Given the description of an element on the screen output the (x, y) to click on. 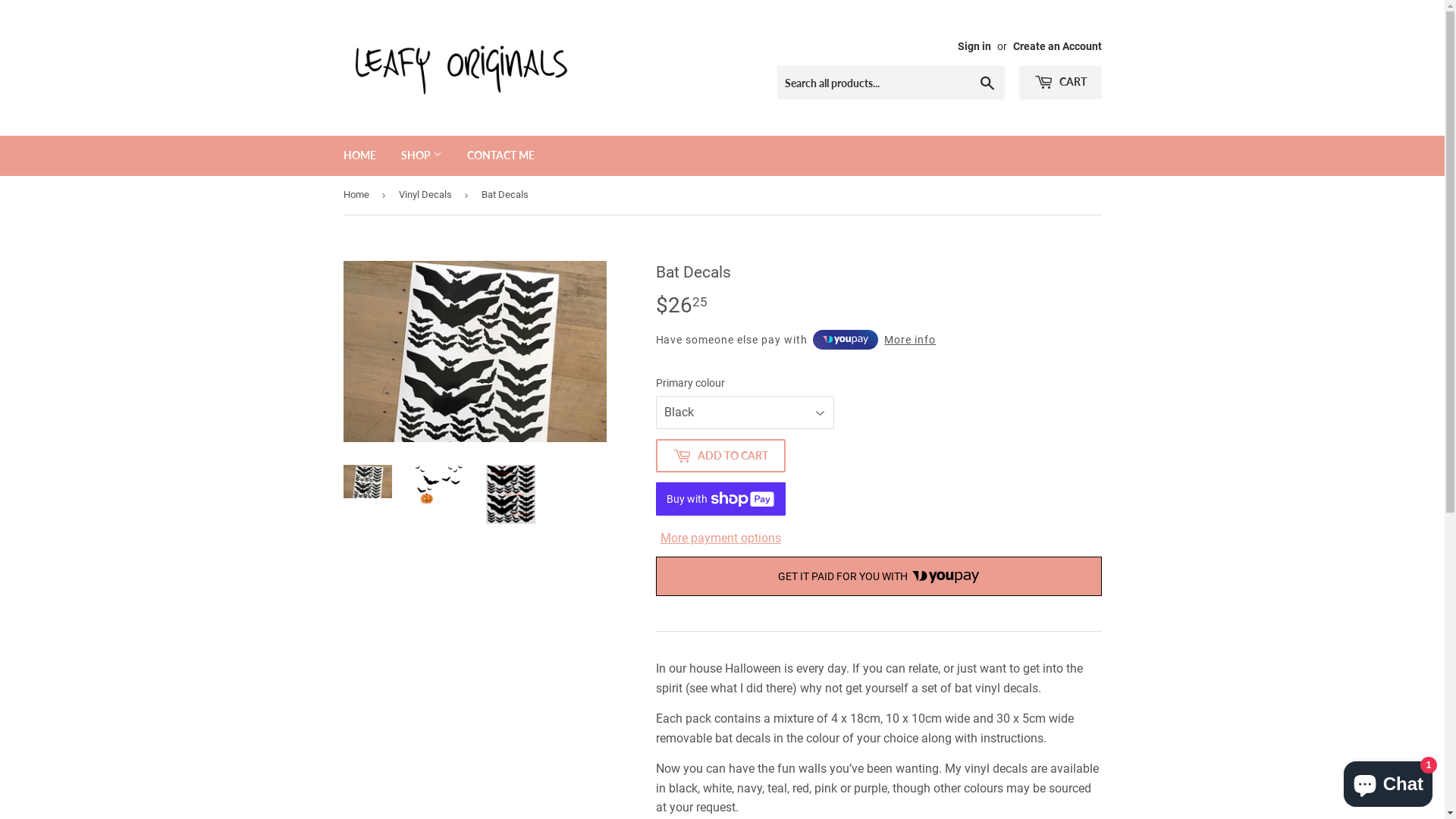
ADD TO CART Element type: text (719, 455)
CONTACT ME Element type: text (500, 155)
GET IT PAID FOR YOU WITH Element type: text (878, 576)
Home Element type: text (357, 194)
Have someone else pay with
More info Element type: text (795, 339)
CART Element type: text (1060, 82)
Sign in Element type: text (973, 46)
Search Element type: text (987, 83)
HOME Element type: text (359, 155)
Vinyl Decals Element type: text (427, 194)
Create an Account Element type: text (1057, 46)
SHOP Element type: text (421, 155)
Shopify online store chat Element type: hover (1388, 780)
More payment options Element type: text (719, 538)
